Given the description of an element on the screen output the (x, y) to click on. 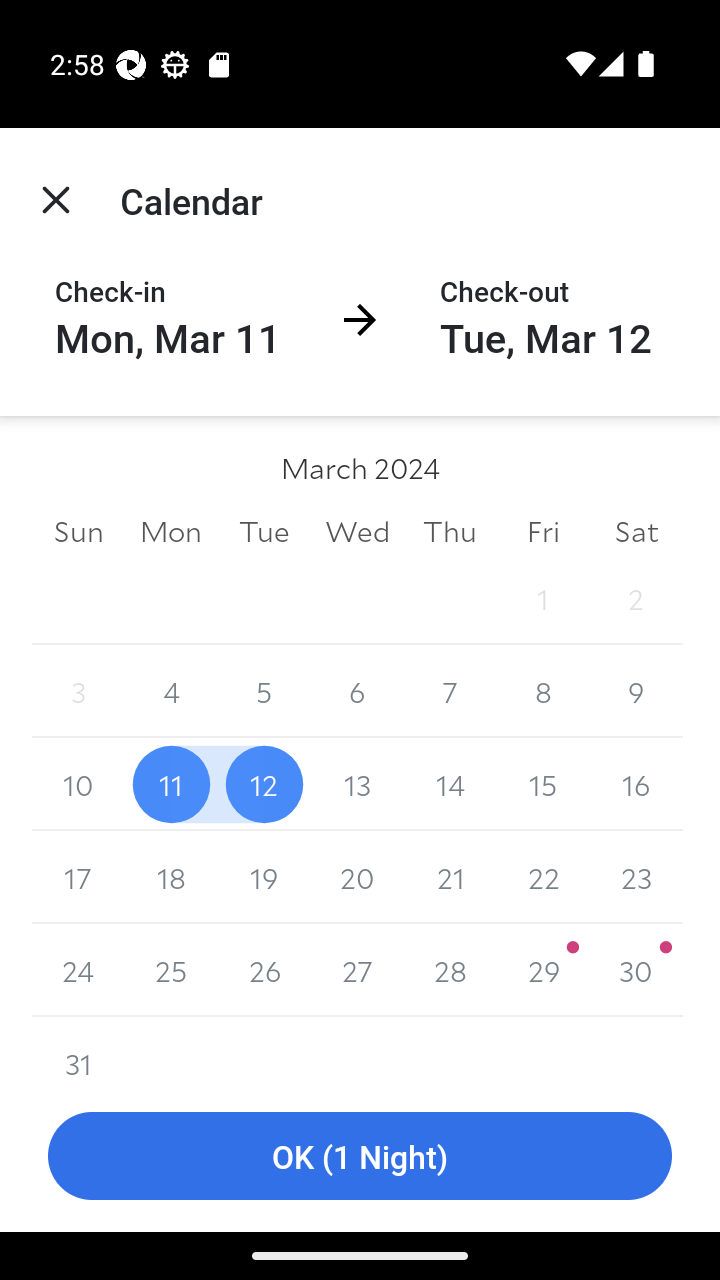
Sun (78, 530)
Mon (171, 530)
Tue (264, 530)
Wed (357, 530)
Thu (449, 530)
Fri (542, 530)
Sat (636, 530)
1 1 March 2024 (542, 598)
2 2 March 2024 (636, 598)
3 3 March 2024 (78, 691)
4 4 March 2024 (171, 691)
5 5 March 2024 (264, 691)
6 6 March 2024 (357, 691)
7 7 March 2024 (449, 691)
8 8 March 2024 (542, 691)
9 9 March 2024 (636, 691)
10 10 March 2024 (78, 784)
11 11 March 2024 (171, 784)
12 12 March 2024 (264, 784)
13 13 March 2024 (357, 784)
14 14 March 2024 (449, 784)
15 15 March 2024 (542, 784)
16 16 March 2024 (636, 784)
17 17 March 2024 (78, 877)
18 18 March 2024 (171, 877)
19 19 March 2024 (264, 877)
20 20 March 2024 (357, 877)
21 21 March 2024 (449, 877)
22 22 March 2024 (542, 877)
23 23 March 2024 (636, 877)
24 24 March 2024 (78, 970)
25 25 March 2024 (171, 970)
26 26 March 2024 (264, 970)
27 27 March 2024 (357, 970)
28 28 March 2024 (449, 970)
29 29 March 2024 (542, 970)
30 30 March 2024 (636, 970)
31 31 March 2024 (78, 1048)
OK (1 Night) (359, 1156)
